Given the description of an element on the screen output the (x, y) to click on. 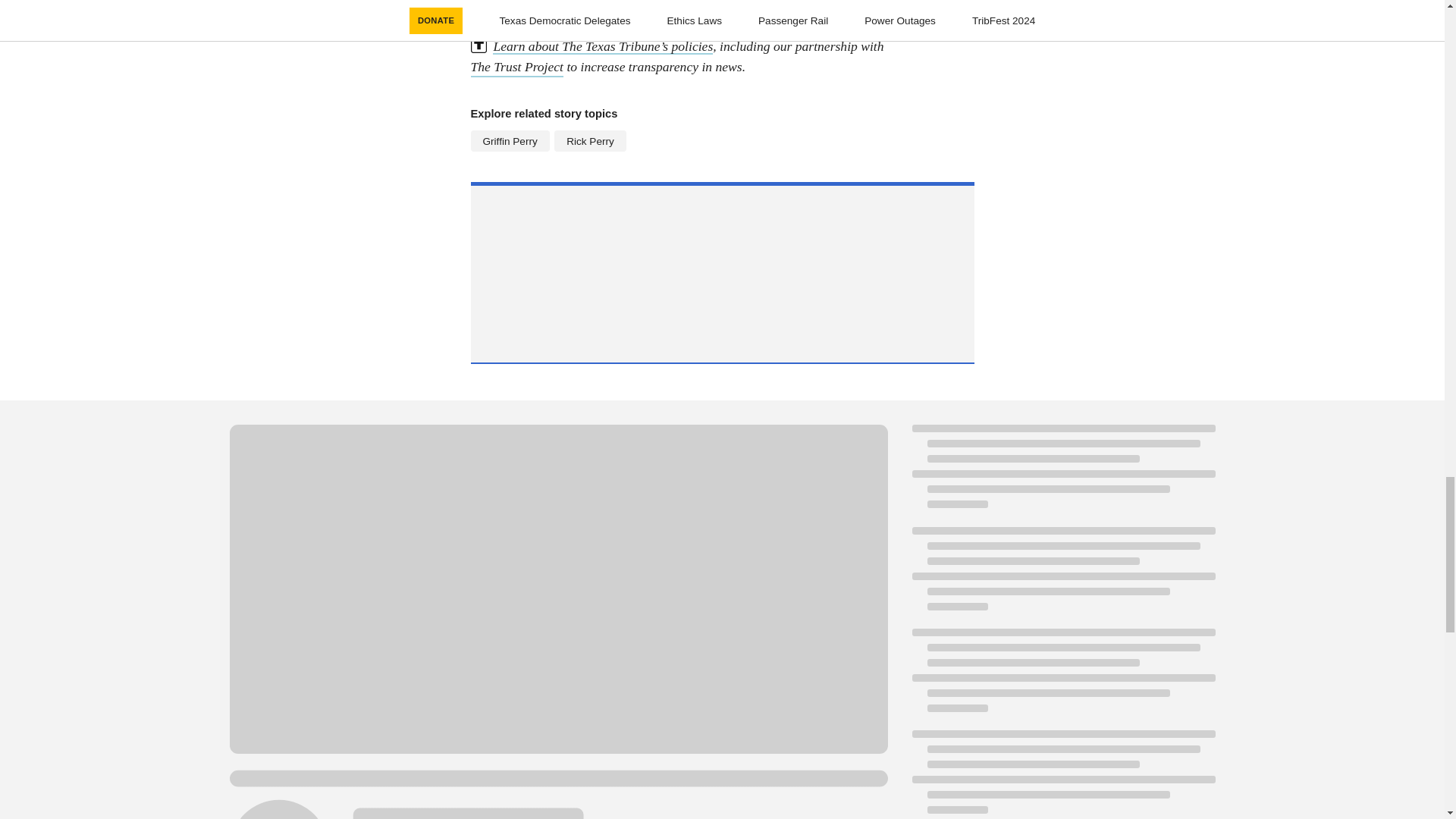
Loading indicator (1062, 474)
Loading indicator (1062, 576)
Loading indicator (1062, 677)
Loading indicator (1062, 774)
